Given the description of an element on the screen output the (x, y) to click on. 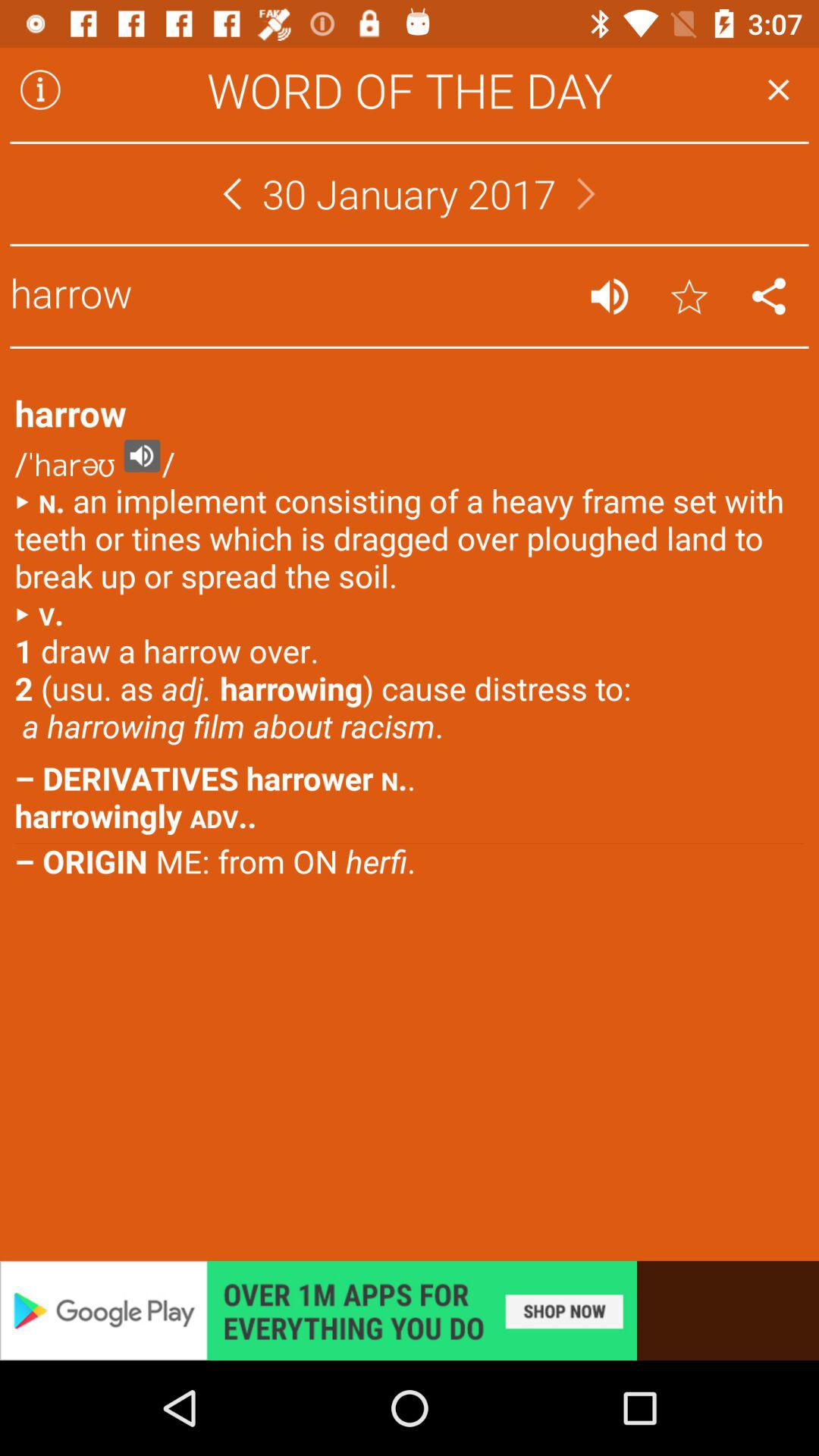
go forward to the next month (586, 193)
